Given the description of an element on the screen output the (x, y) to click on. 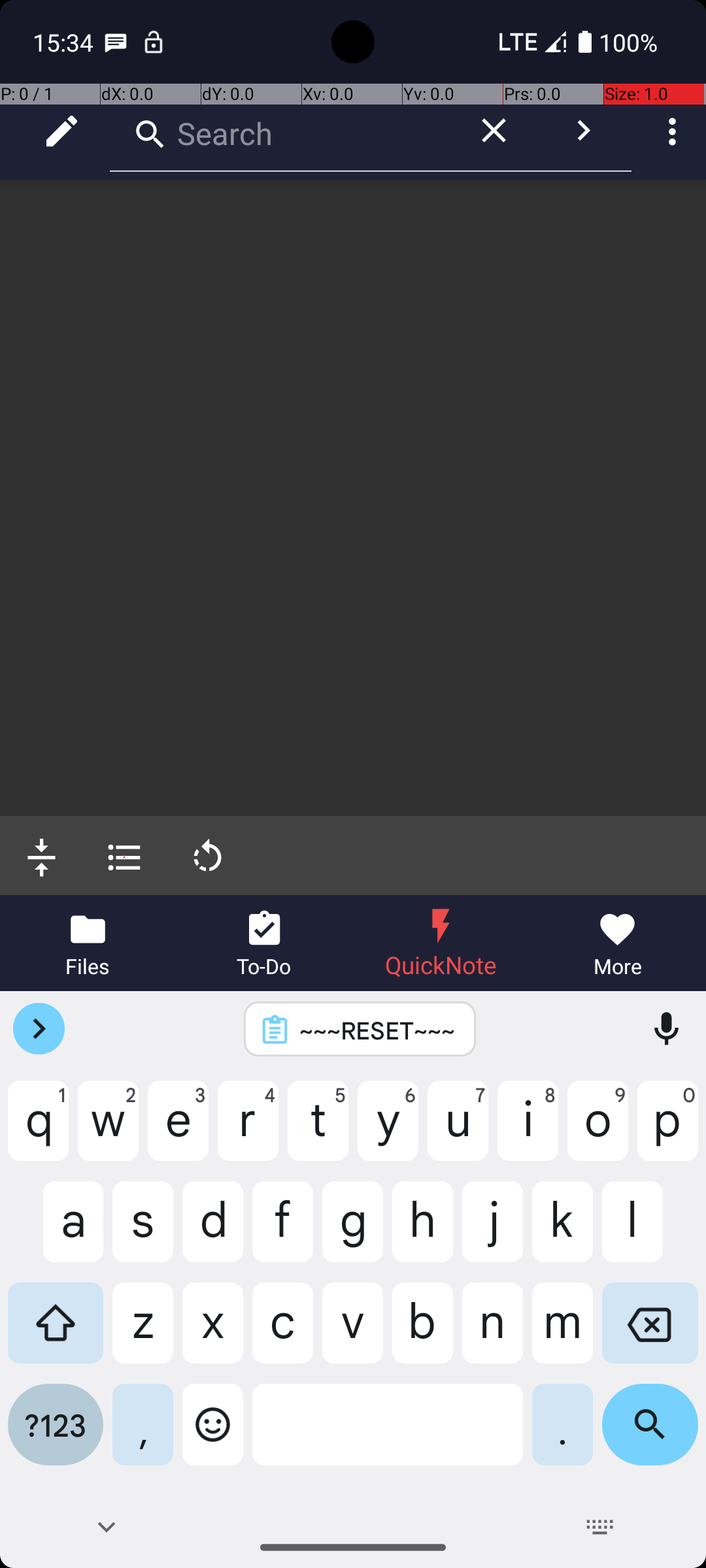
   Search Element type: android.widget.AutoCompleteTextView (280, 130)
Submit query Element type: android.widget.ImageView (583, 130)
